Given the description of an element on the screen output the (x, y) to click on. 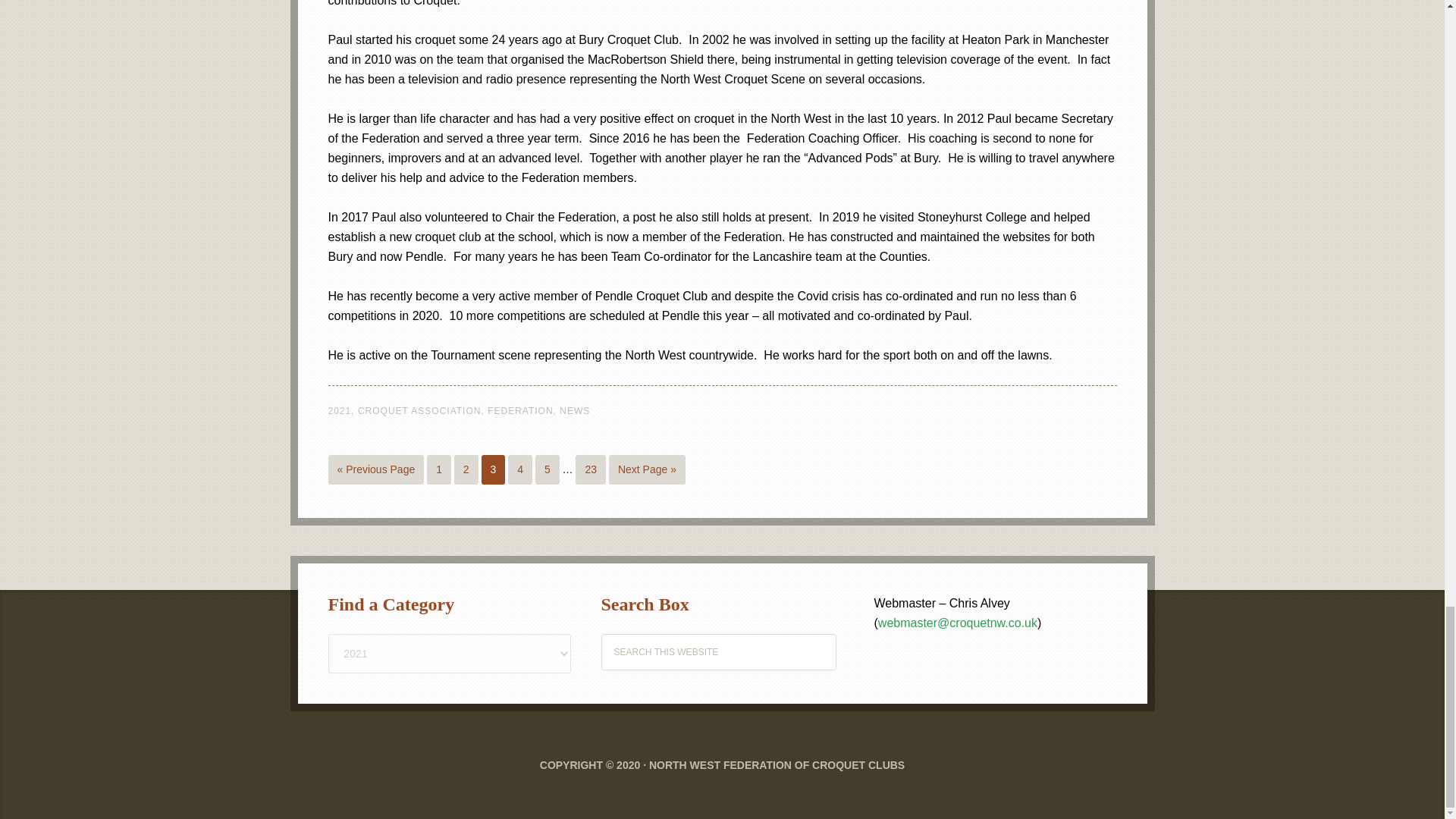
CROQUET ASSOCIATION (419, 410)
FEDERATION (520, 410)
2021 (338, 410)
NEWS (574, 410)
